Given the description of an element on the screen output the (x, y) to click on. 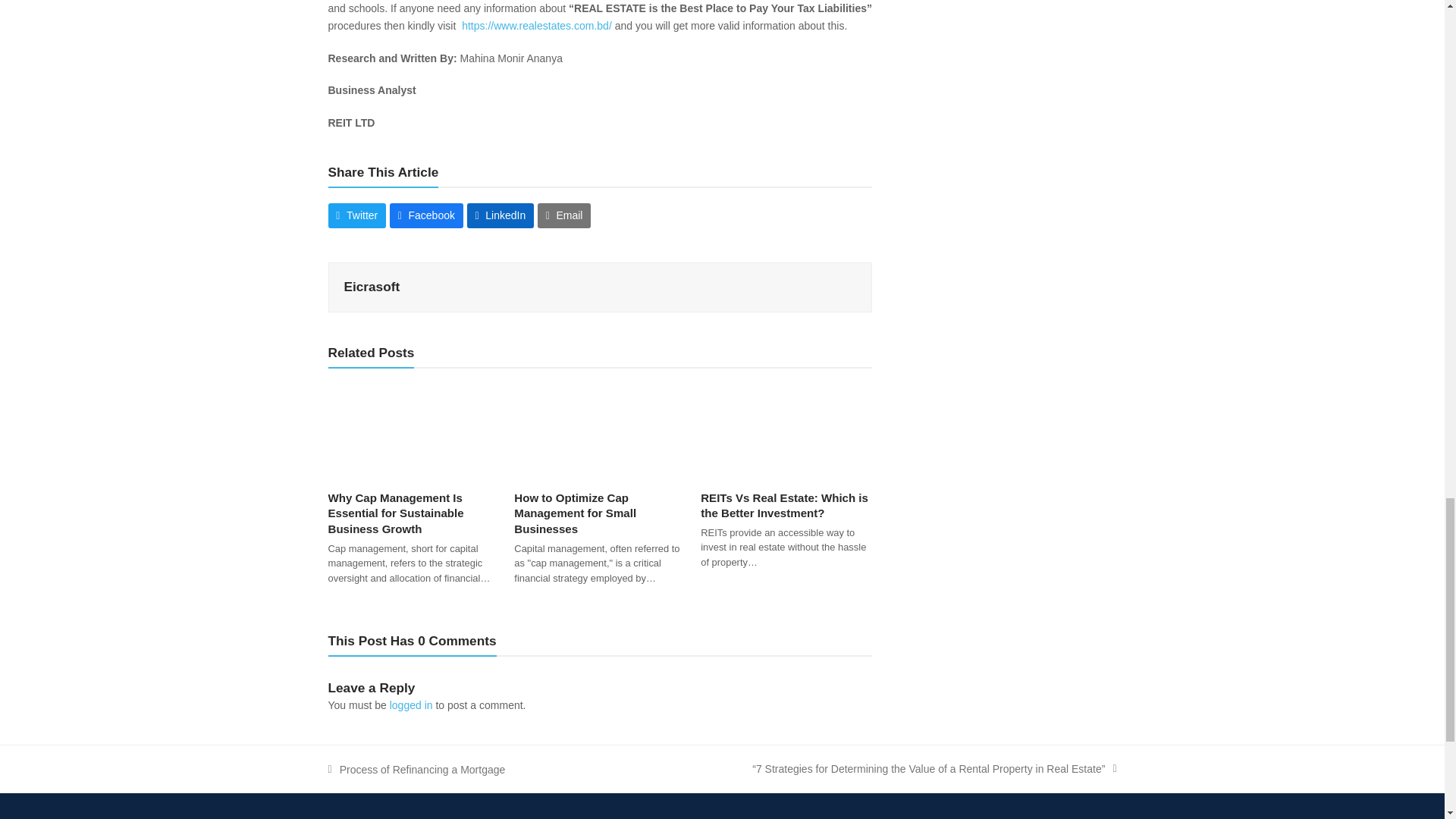
Visit Author Page (371, 286)
How to Optimize Cap Management for Small Businesses (599, 429)
REITs Vs Real Estate: Which is the Better Investment? (786, 429)
